Given the description of an element on the screen output the (x, y) to click on. 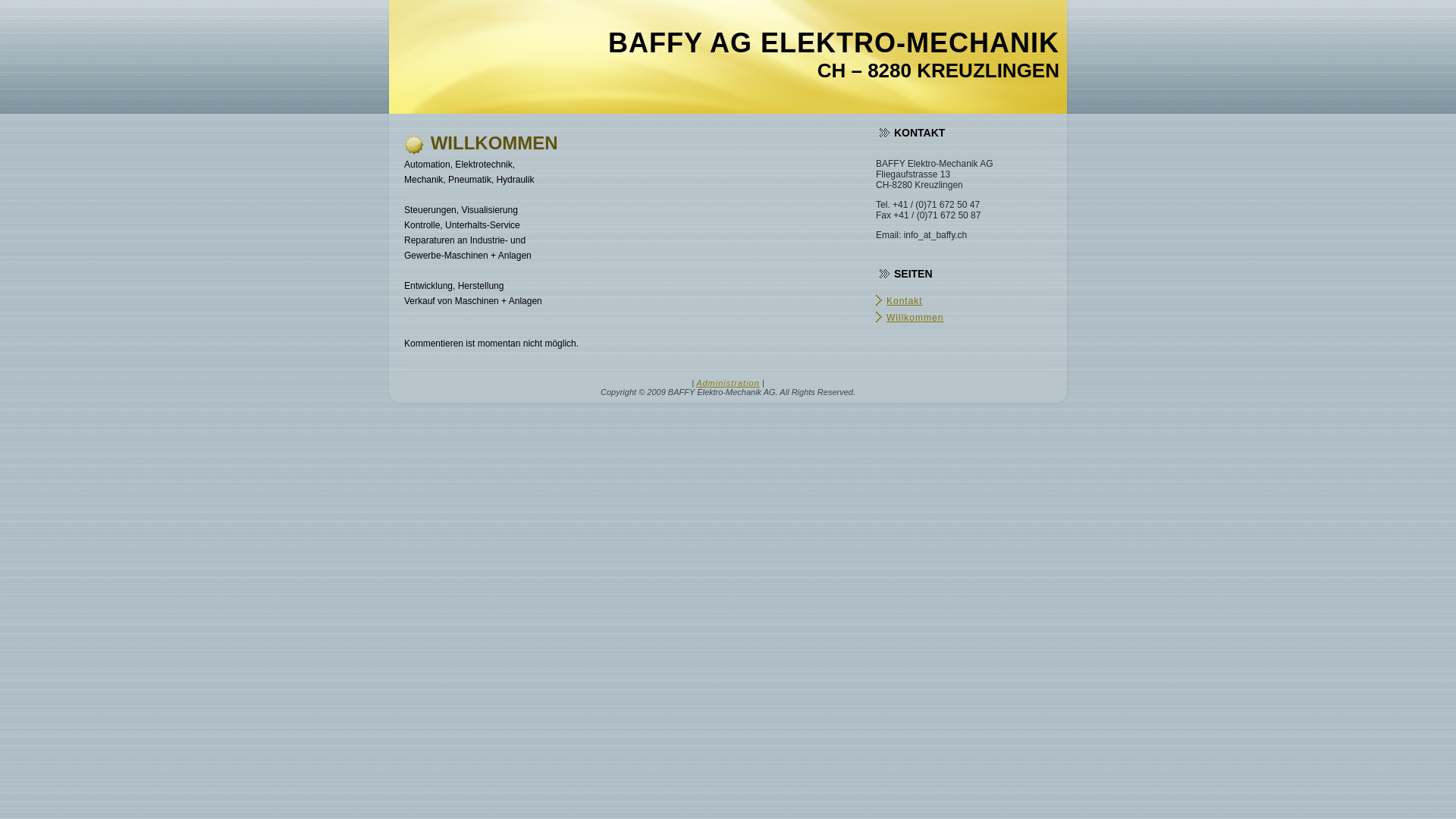
Willkommen Element type: text (914, 317)
Kontakt Element type: text (904, 300)
WILLKOMMEN Element type: text (494, 142)
Administration Element type: text (727, 382)
BAFFY AG ELEKTRO-MECHANIK Element type: text (833, 42)
